Given the description of an element on the screen output the (x, y) to click on. 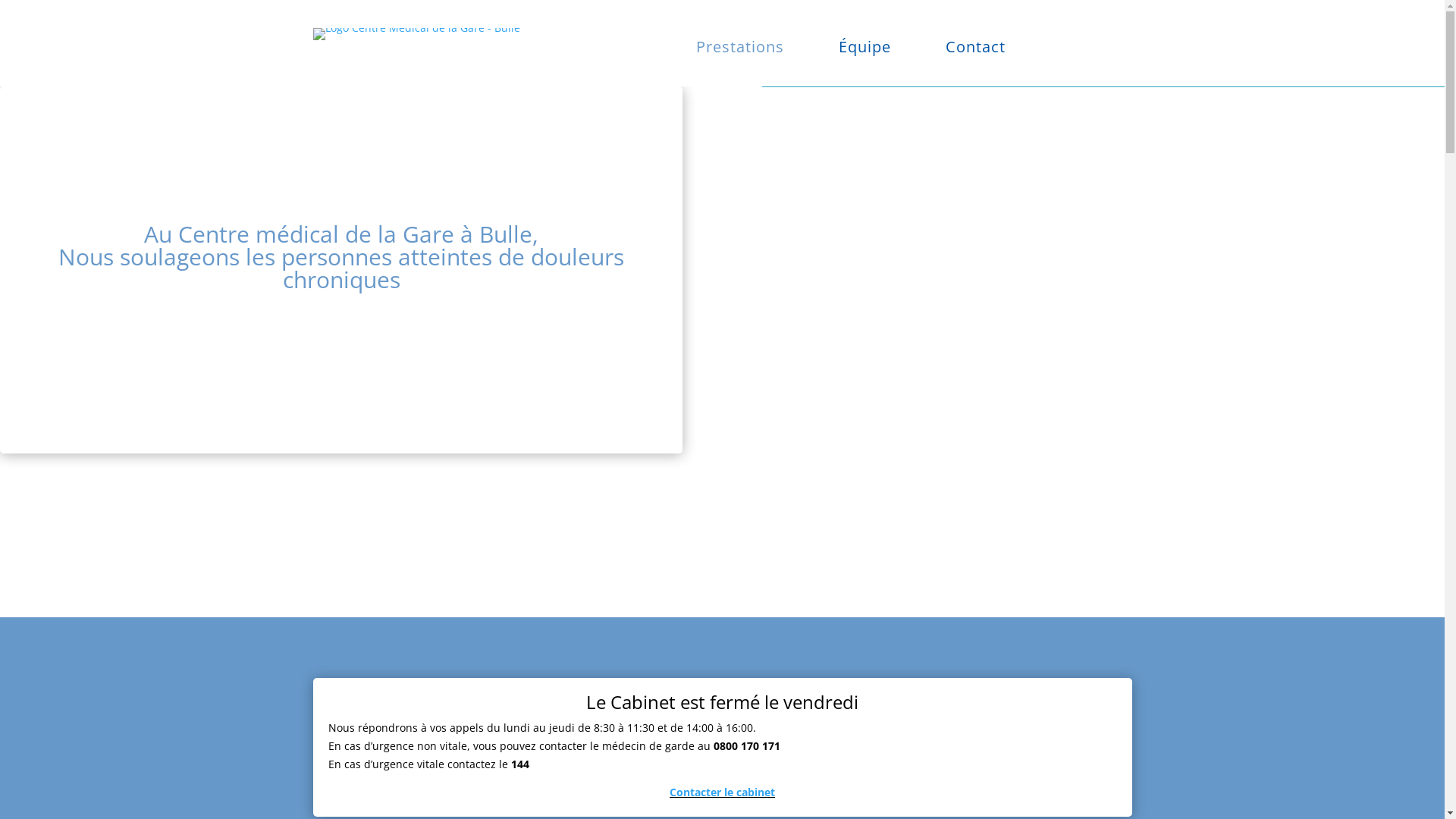
Prestations Element type: text (721, 49)
Contacter le cabinet Element type: text (722, 791)
Contact Element type: text (956, 49)
